Given the description of an element on the screen output the (x, y) to click on. 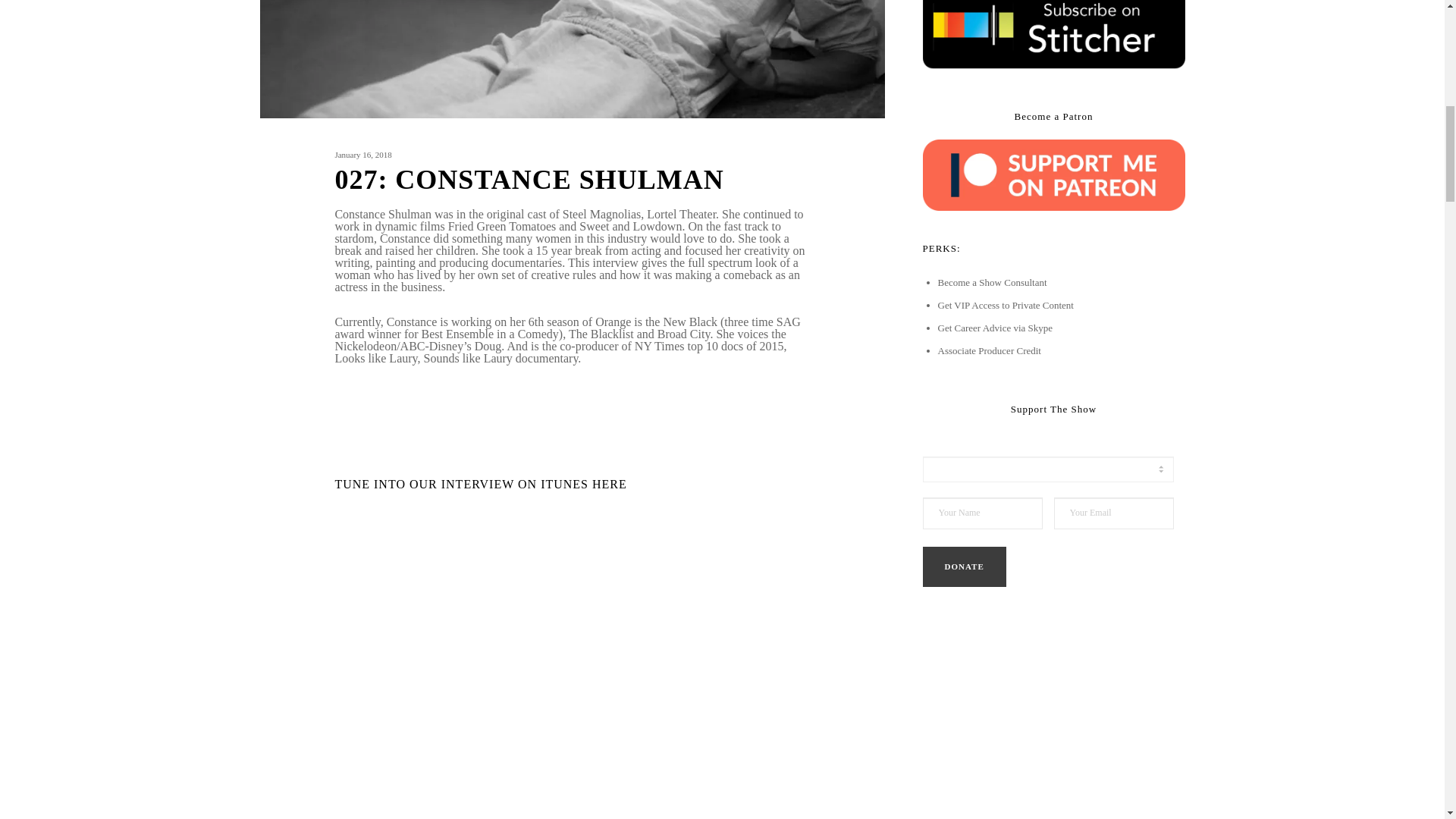
027: CONSTANCE SHULMAN (571, 187)
TUNE INTO OUR INTERVIEW ON ITUNES HERE (480, 483)
DONATE (963, 567)
